Given the description of an element on the screen output the (x, y) to click on. 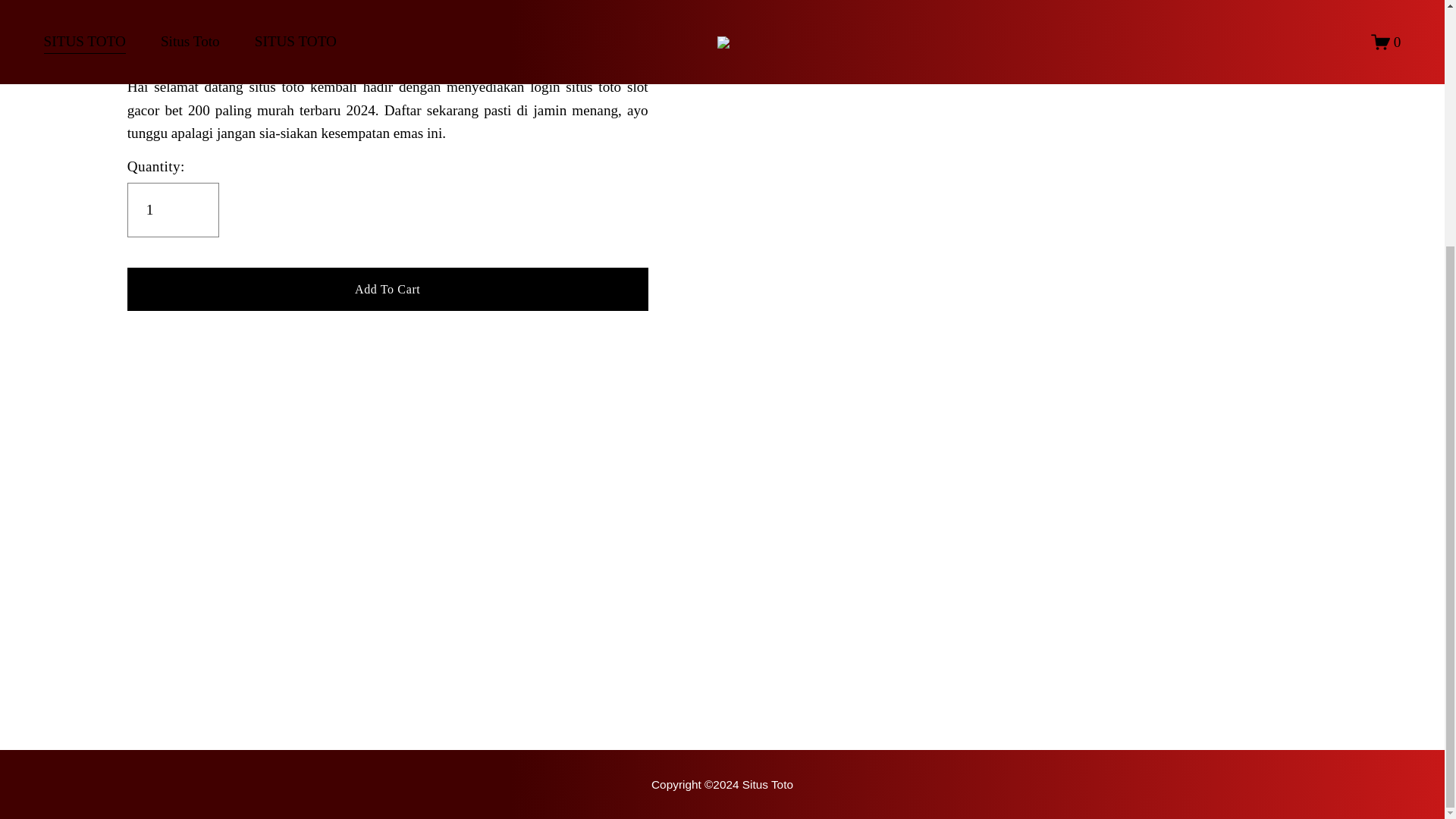
Add To Cart (387, 288)
1 (173, 209)
Situs Toto (721, 784)
